Given the description of an element on the screen output the (x, y) to click on. 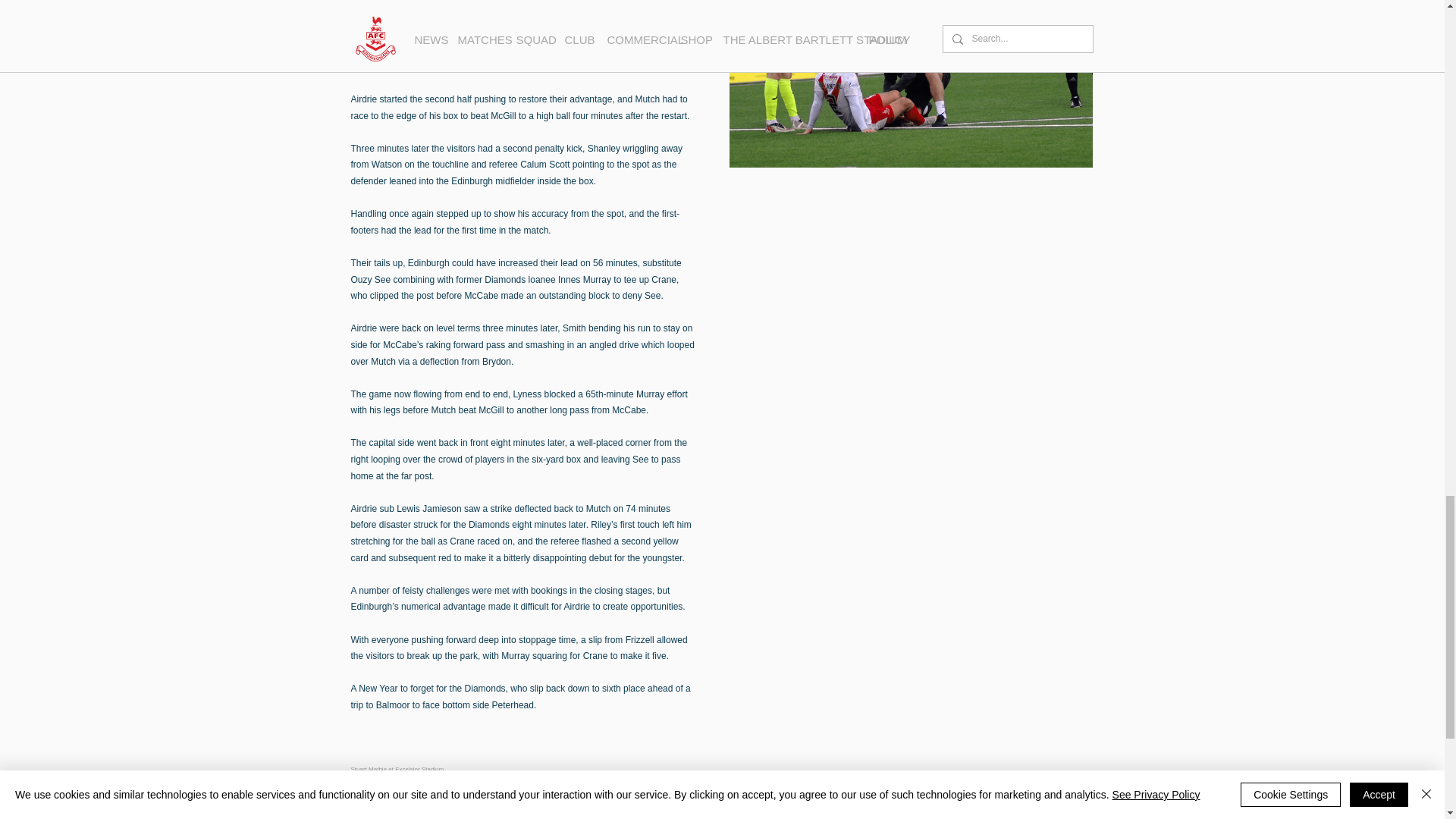
Twitter Tweet (449, 815)
Facebook Like (379, 815)
